Given the description of an element on the screen output the (x, y) to click on. 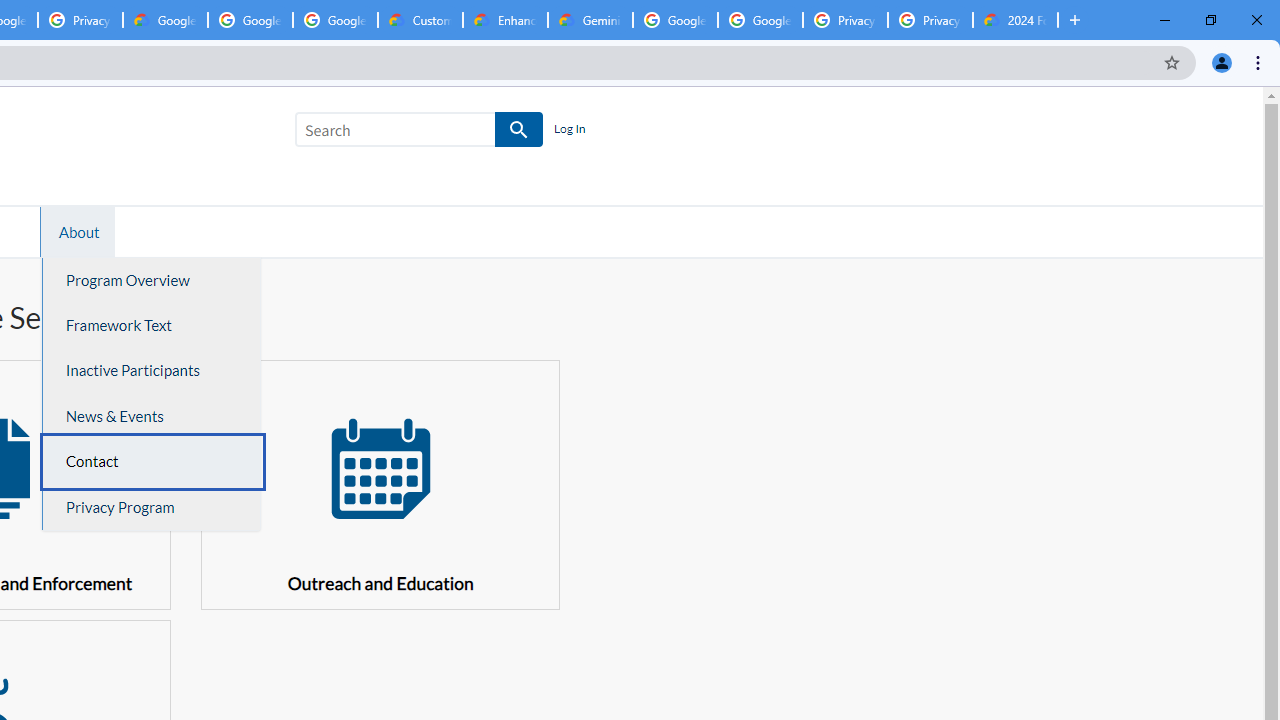
Google Cloud Platform (760, 20)
Customer Care | Google Cloud (420, 20)
Google Cloud Platform (675, 20)
